Given the description of an element on the screen output the (x, y) to click on. 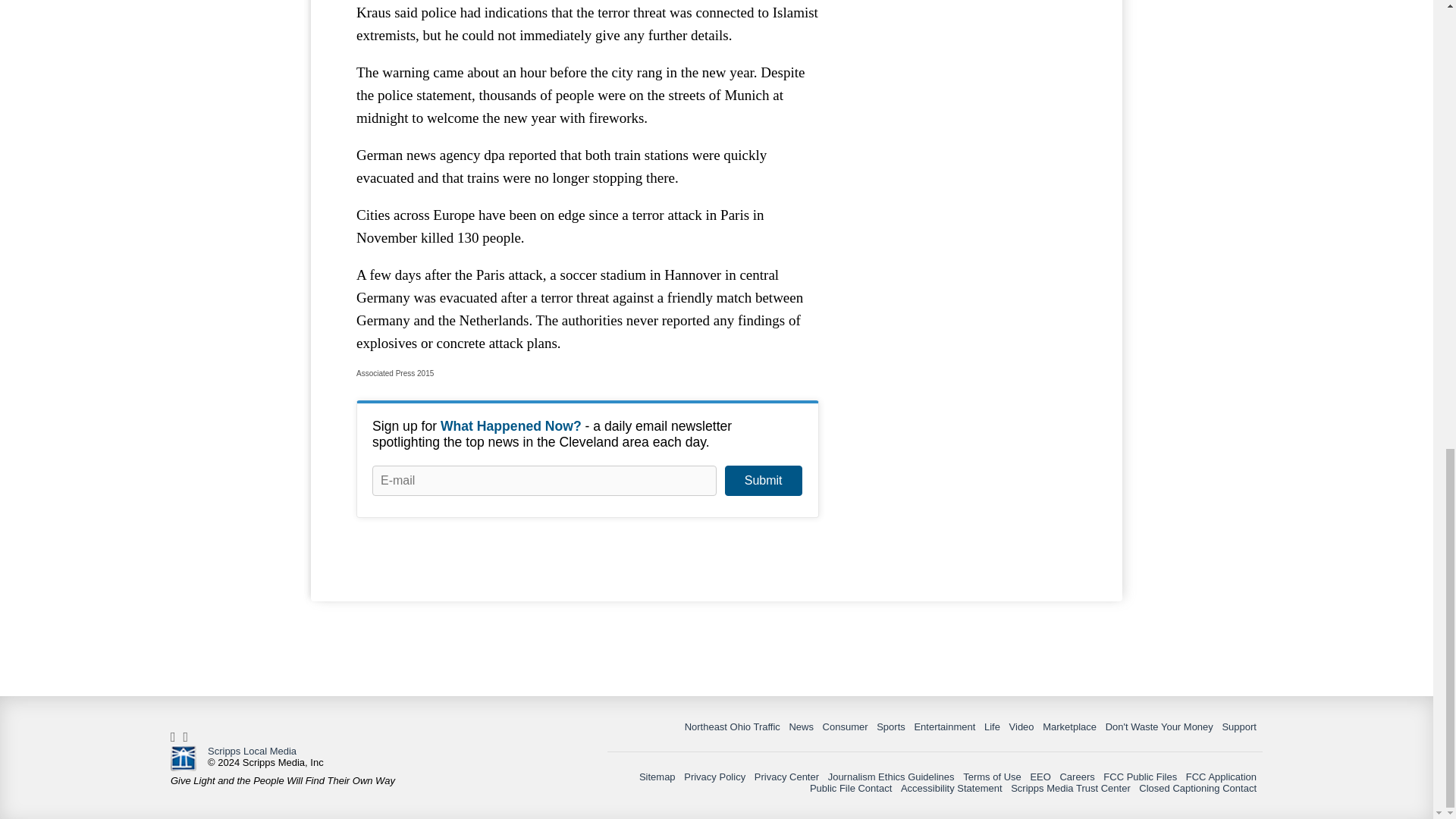
Submit (763, 481)
